Given the description of an element on the screen output the (x, y) to click on. 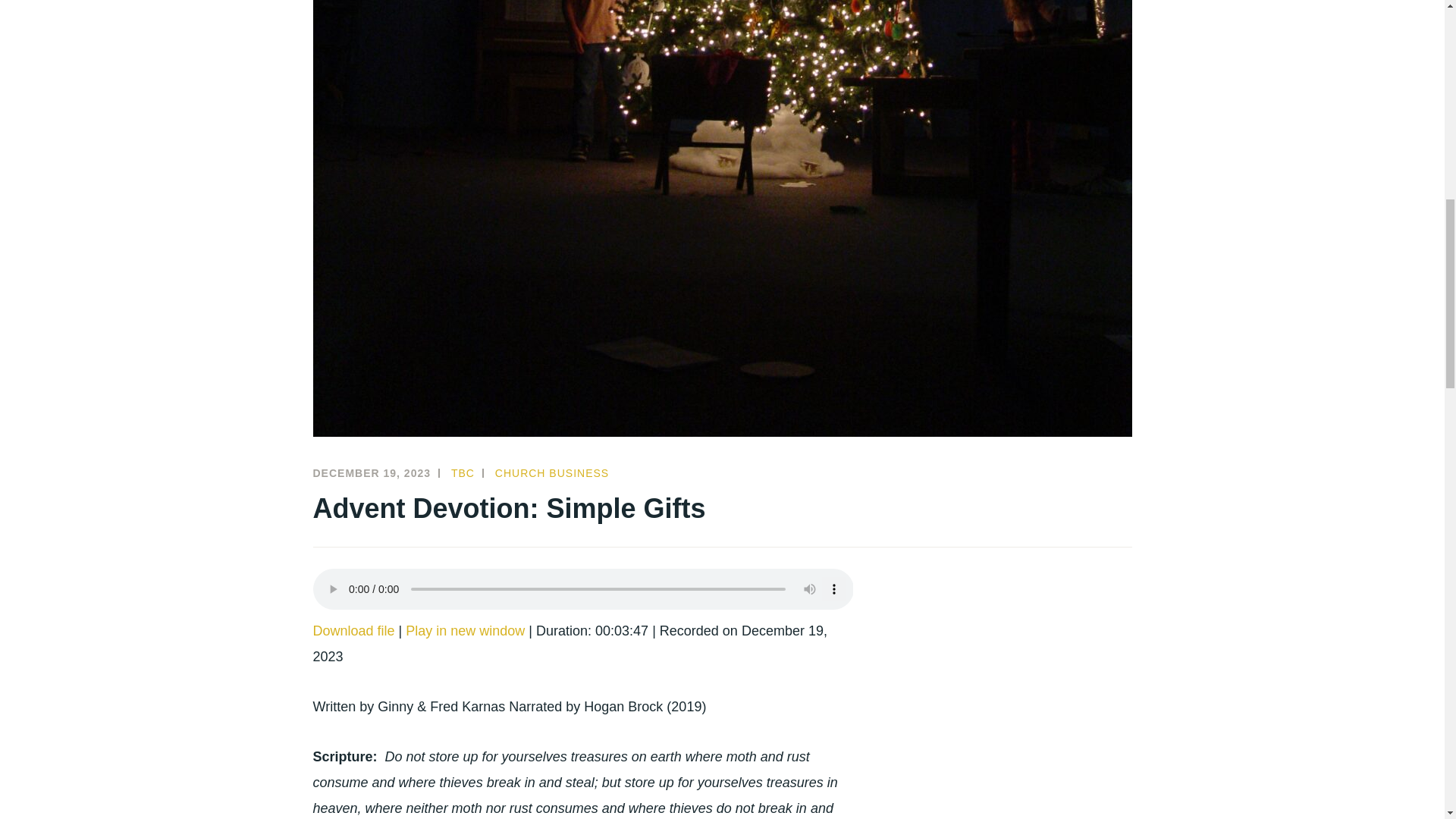
Play in new window (465, 630)
TBC (462, 472)
Advent Devotion: Simple Gifts  (465, 630)
CHURCH BUSINESS (551, 472)
Advent Devotion: Simple Gifts  (353, 630)
Download file (353, 630)
DECEMBER 19, 2023 (371, 472)
